Given the description of an element on the screen output the (x, y) to click on. 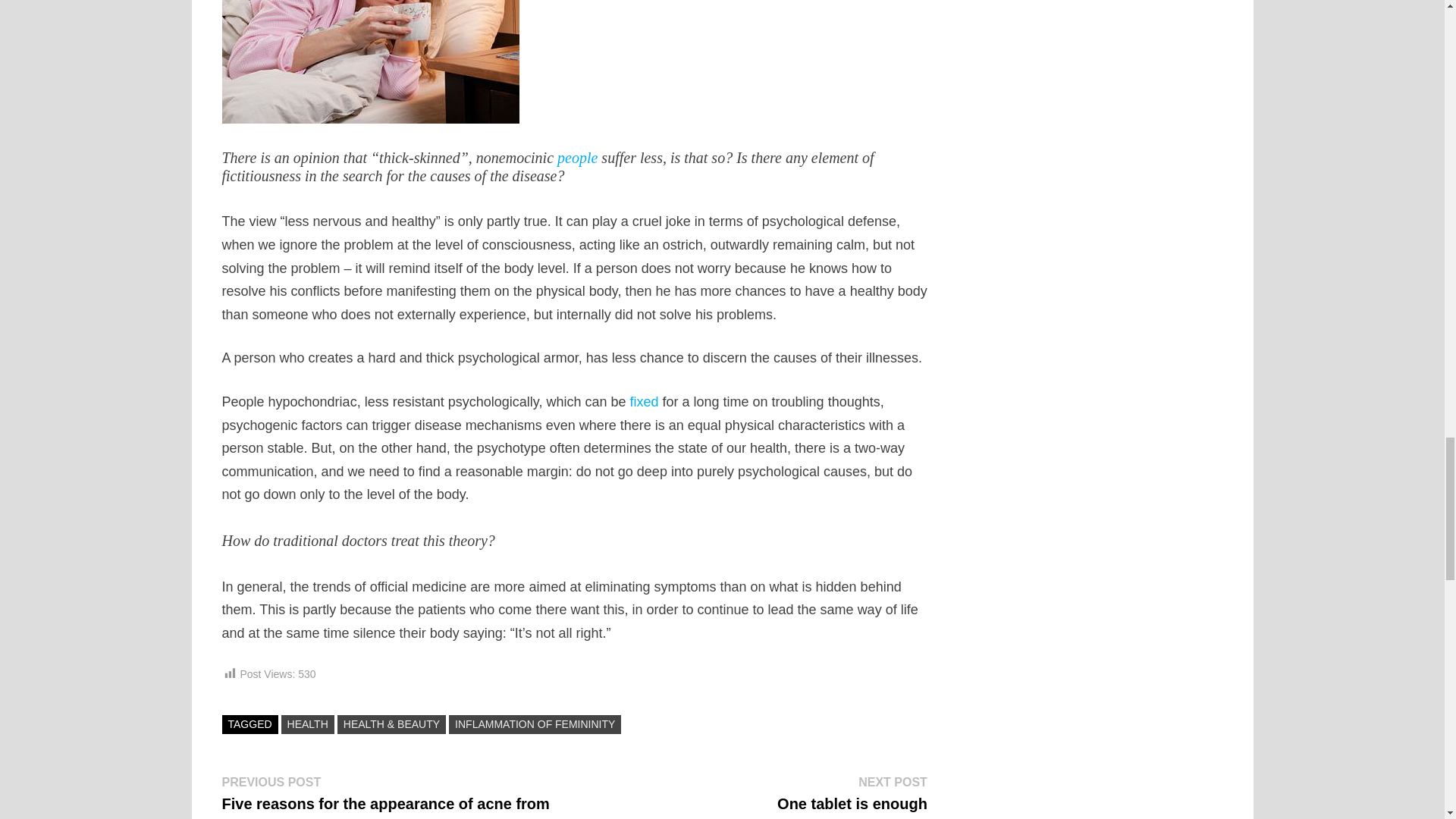
people (576, 157)
HEALTH (307, 723)
fixed (643, 401)
INFLAMMATION OF FEMININITY (852, 792)
